Given the description of an element on the screen output the (x, y) to click on. 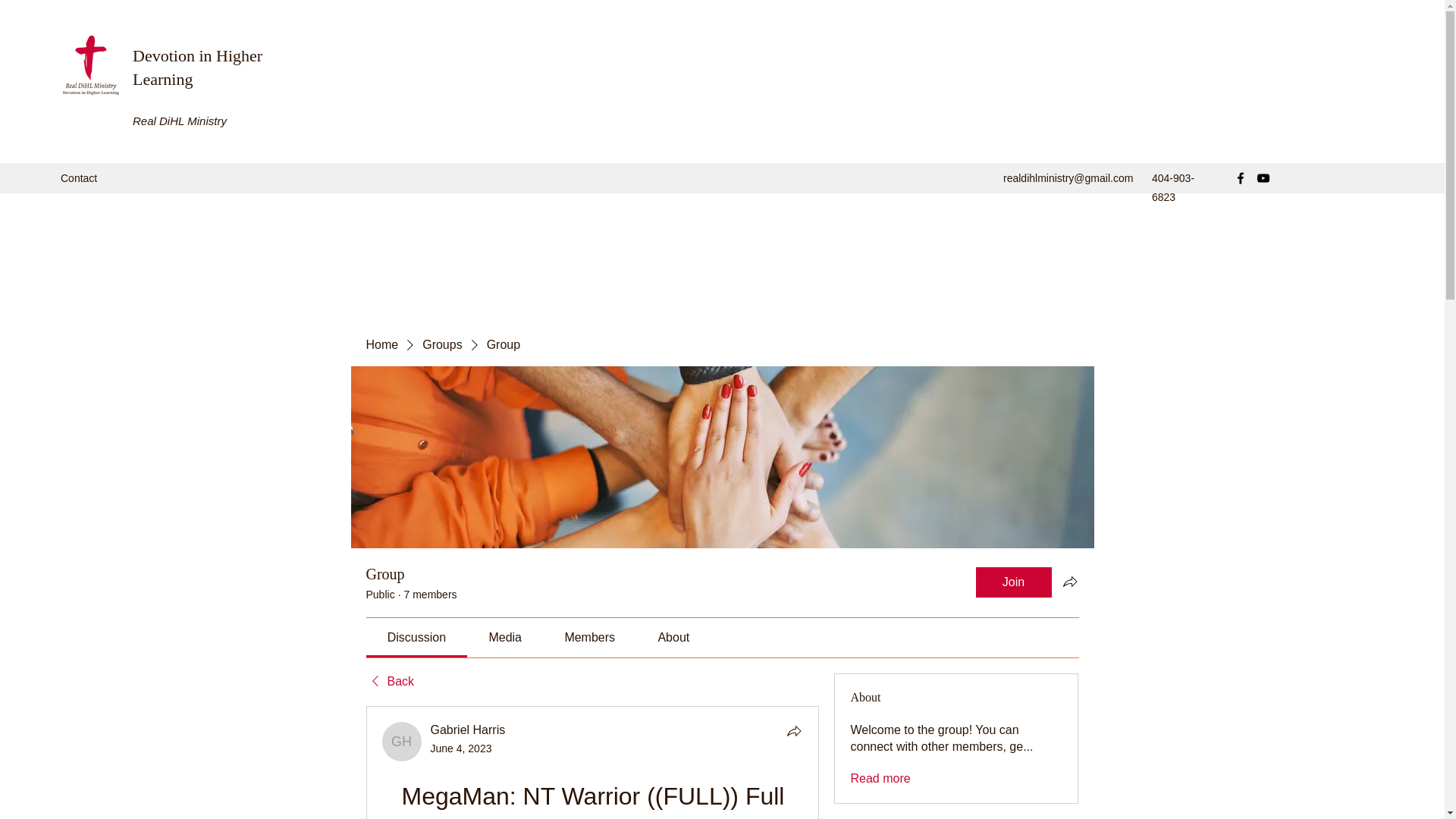
Read more (880, 778)
Contact (79, 178)
Groups (441, 344)
Back (389, 681)
June 4, 2023 (461, 748)
Home (381, 344)
Join (1013, 582)
Gabriel Harris (401, 741)
Devotion in Higher Learning (197, 66)
